Given the description of an element on the screen output the (x, y) to click on. 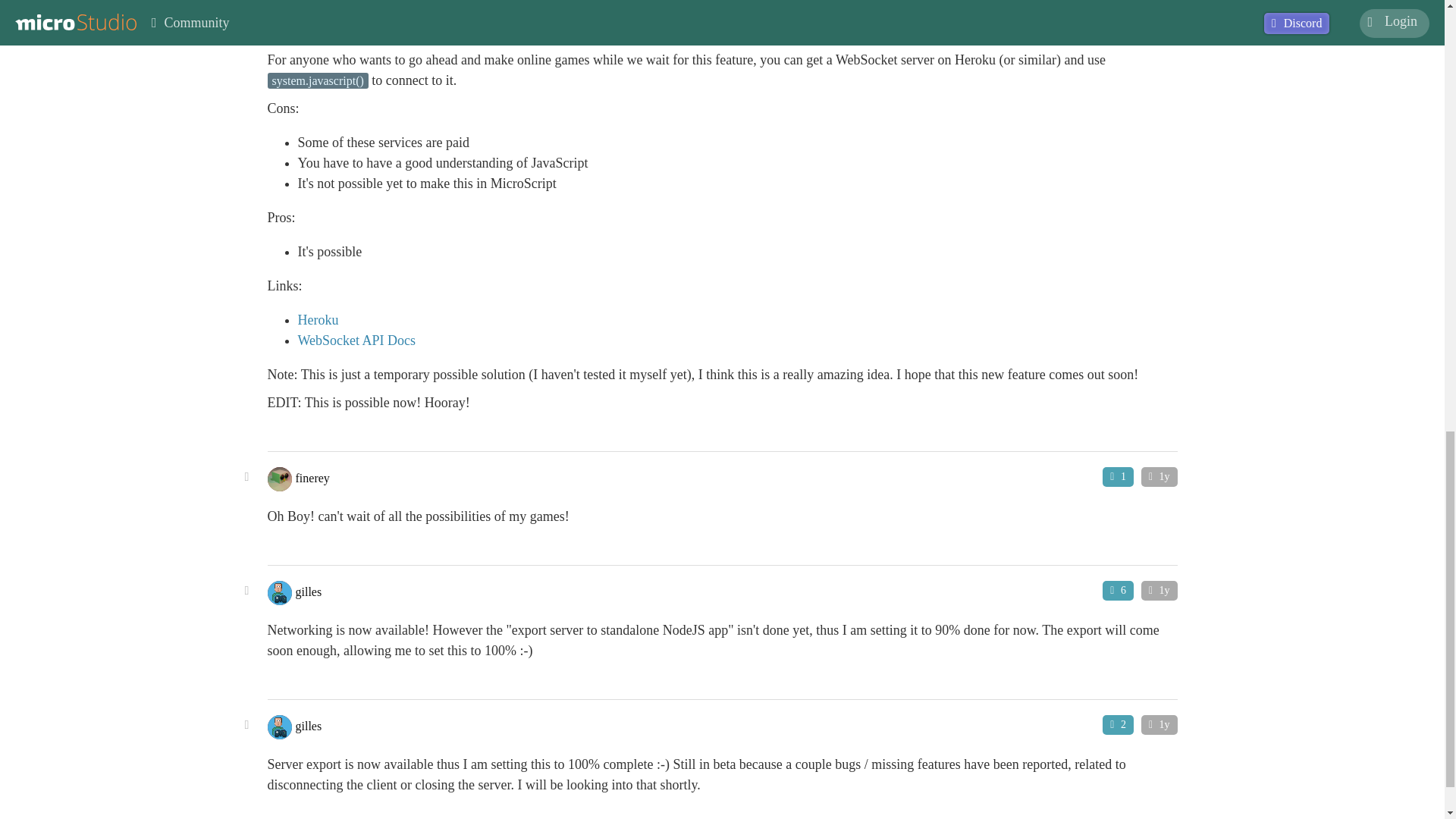
finerey (312, 477)
gilles (308, 590)
gilles (308, 725)
Jmeow (312, 20)
WebSocket API Docs (355, 340)
Heroku (317, 319)
